Given the description of an element on the screen output the (x, y) to click on. 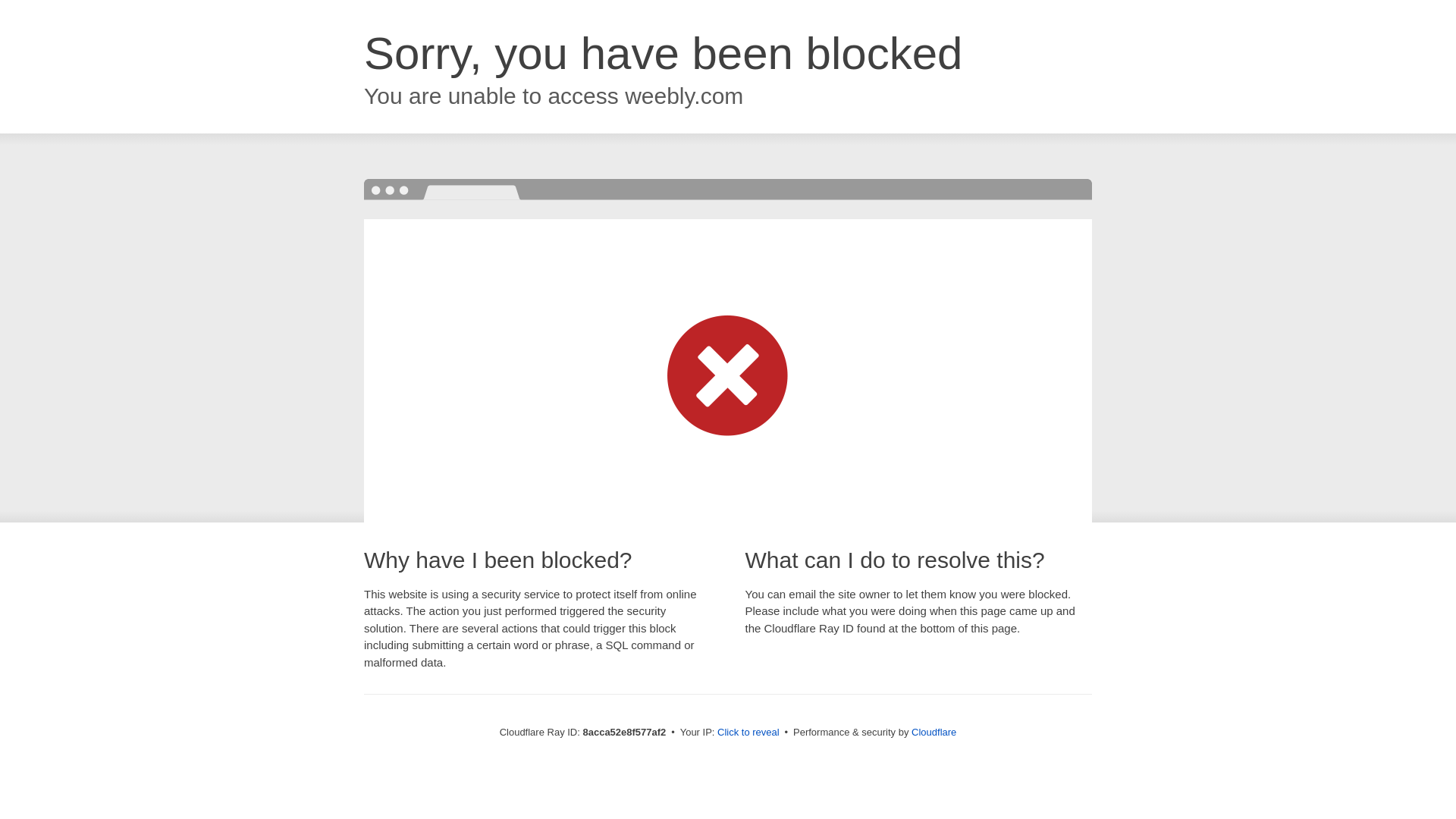
Cloudflare (933, 731)
Click to reveal (747, 732)
